Given the description of an element on the screen output the (x, y) to click on. 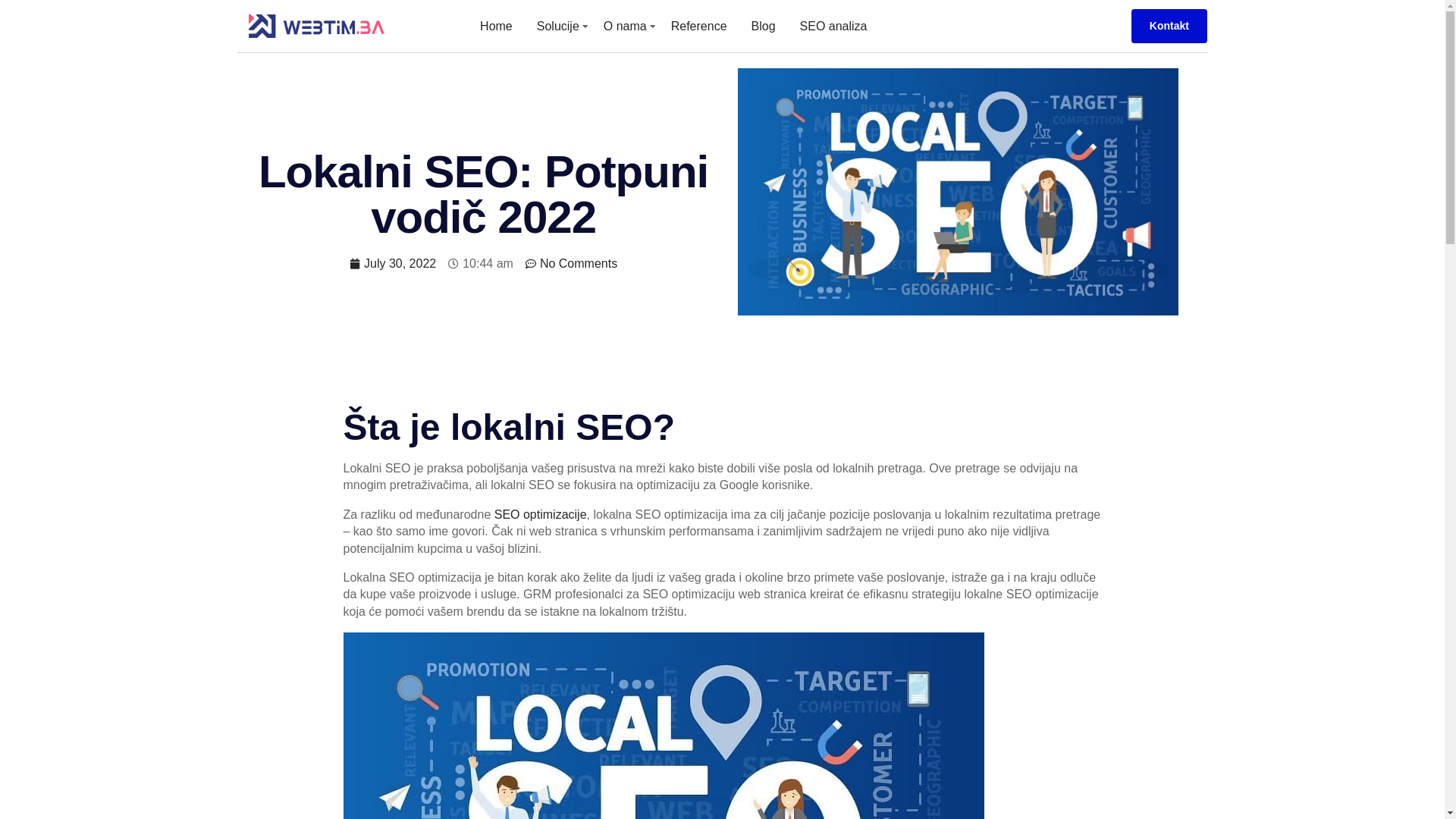
No Comments Element type: text (571, 263)
Reference Element type: text (699, 25)
SEO optimizacije Element type: text (540, 514)
SEO analiza Element type: text (833, 25)
Home Element type: text (496, 25)
Blog Element type: text (763, 25)
July 30, 2022 Element type: text (392, 263)
O nama Element type: text (624, 25)
Kontakt Element type: text (1169, 26)
Solucije Element type: text (558, 25)
